Given the description of an element on the screen output the (x, y) to click on. 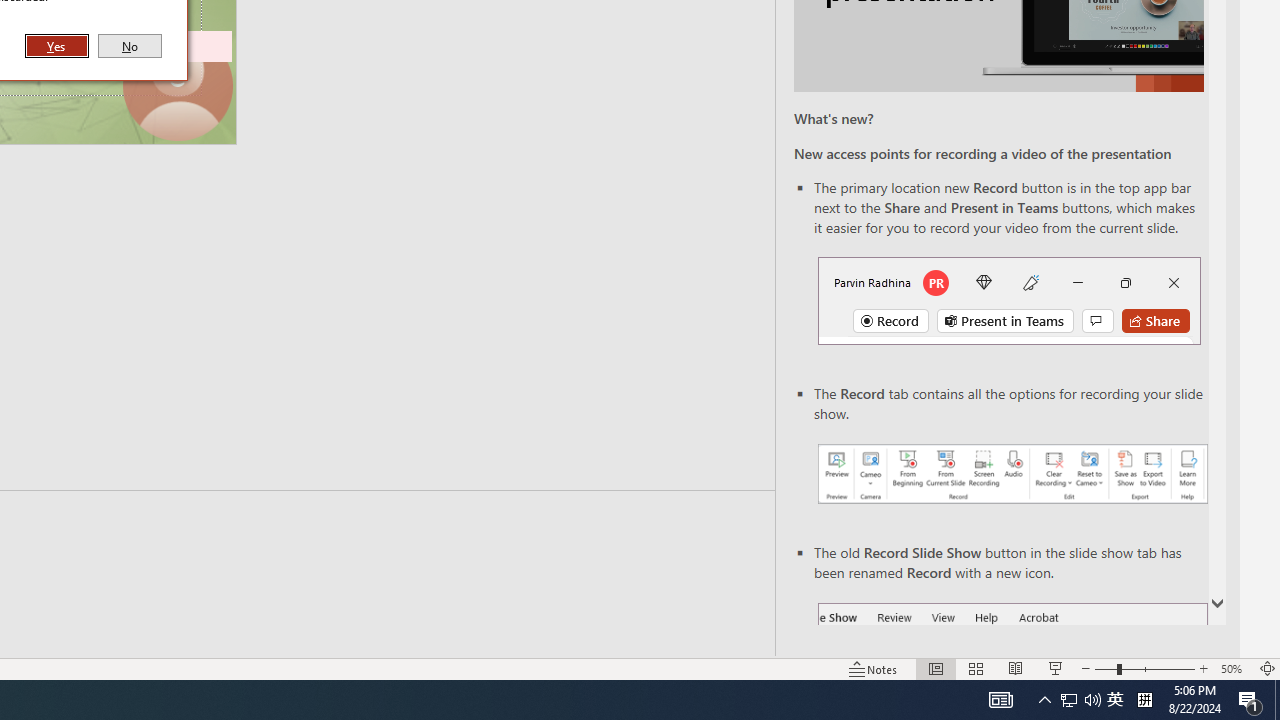
Yes (57, 45)
Notes  (874, 668)
Zoom Out (1105, 668)
Q2790: 100% (1092, 699)
Notification Chevron (1044, 699)
Show desktop (1277, 699)
AutomationID: 4105 (1000, 699)
Slide Sorter (975, 668)
Record your presentations screenshot one (1012, 473)
